Given the description of an element on the screen output the (x, y) to click on. 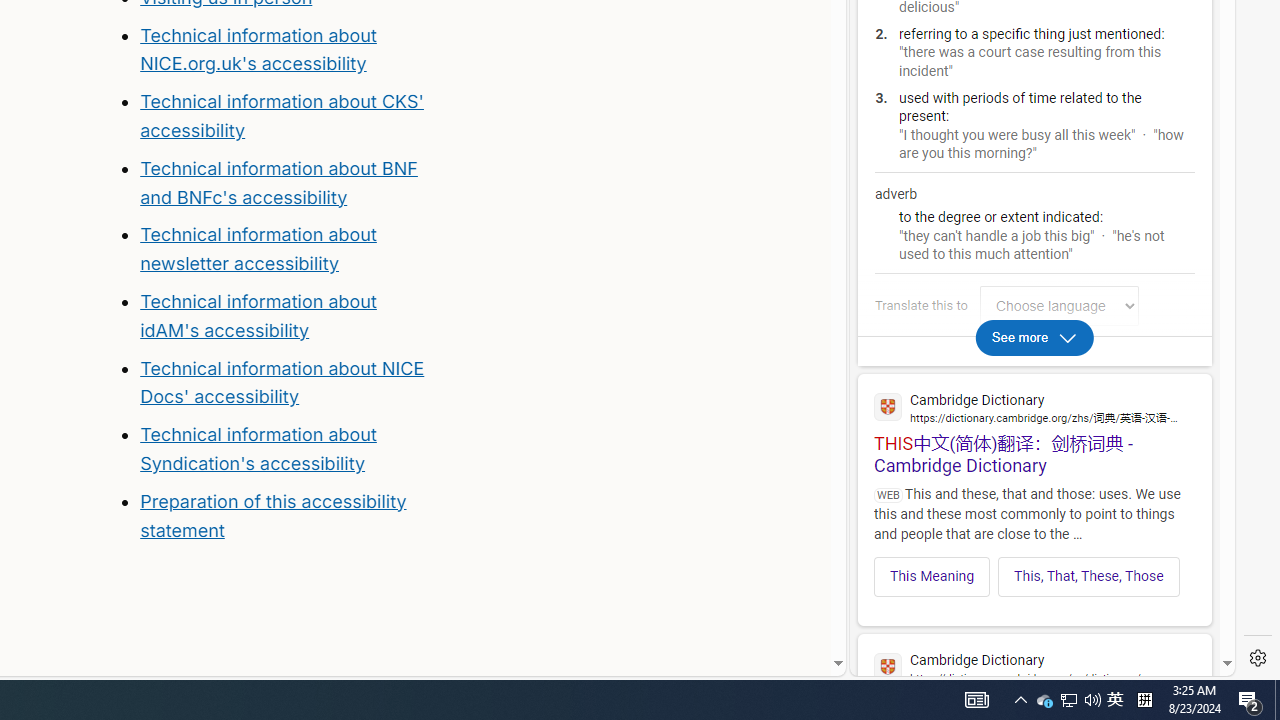
Technical information about BNF and BNFc's accessibility (278, 182)
Preparation of this accessibility statement (273, 515)
Translate this to Choose language (1059, 305)
Technical information about NICE.org.uk's accessibility (258, 48)
Technical information about NICE Docs' accessibility (281, 382)
Technical information about CKS' accessibility (281, 115)
This Meaning (932, 575)
Preparation of this accessibility statement (287, 515)
This, That, These, Those (1088, 575)
This, That, These, Those (1089, 575)
Technical information about idAM's accessibility (258, 315)
